Given the description of an element on the screen output the (x, y) to click on. 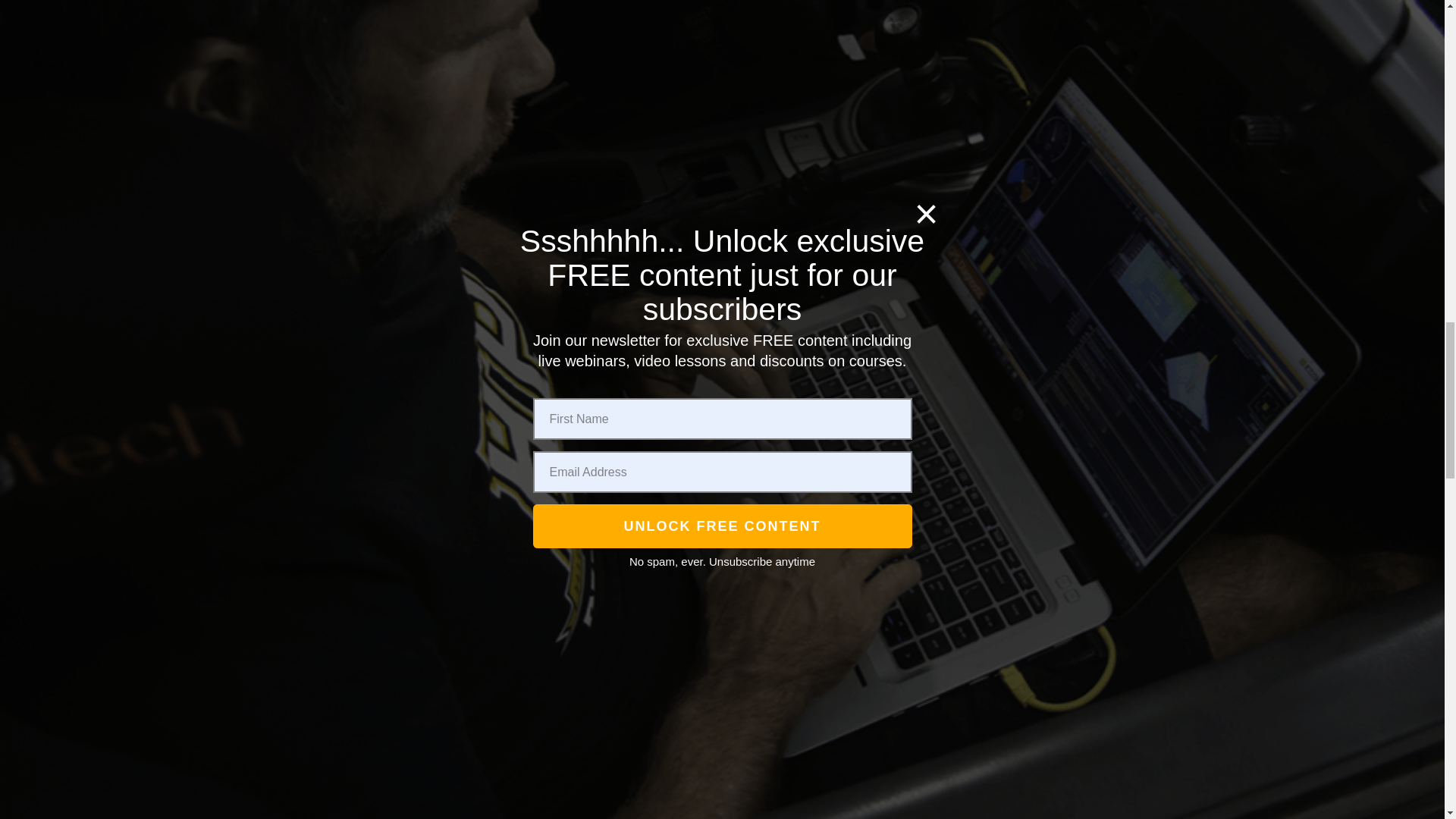
Click here to view Armaki  (355, 137)
Click here to view Armaki  (355, 57)
